Given the description of an element on the screen output the (x, y) to click on. 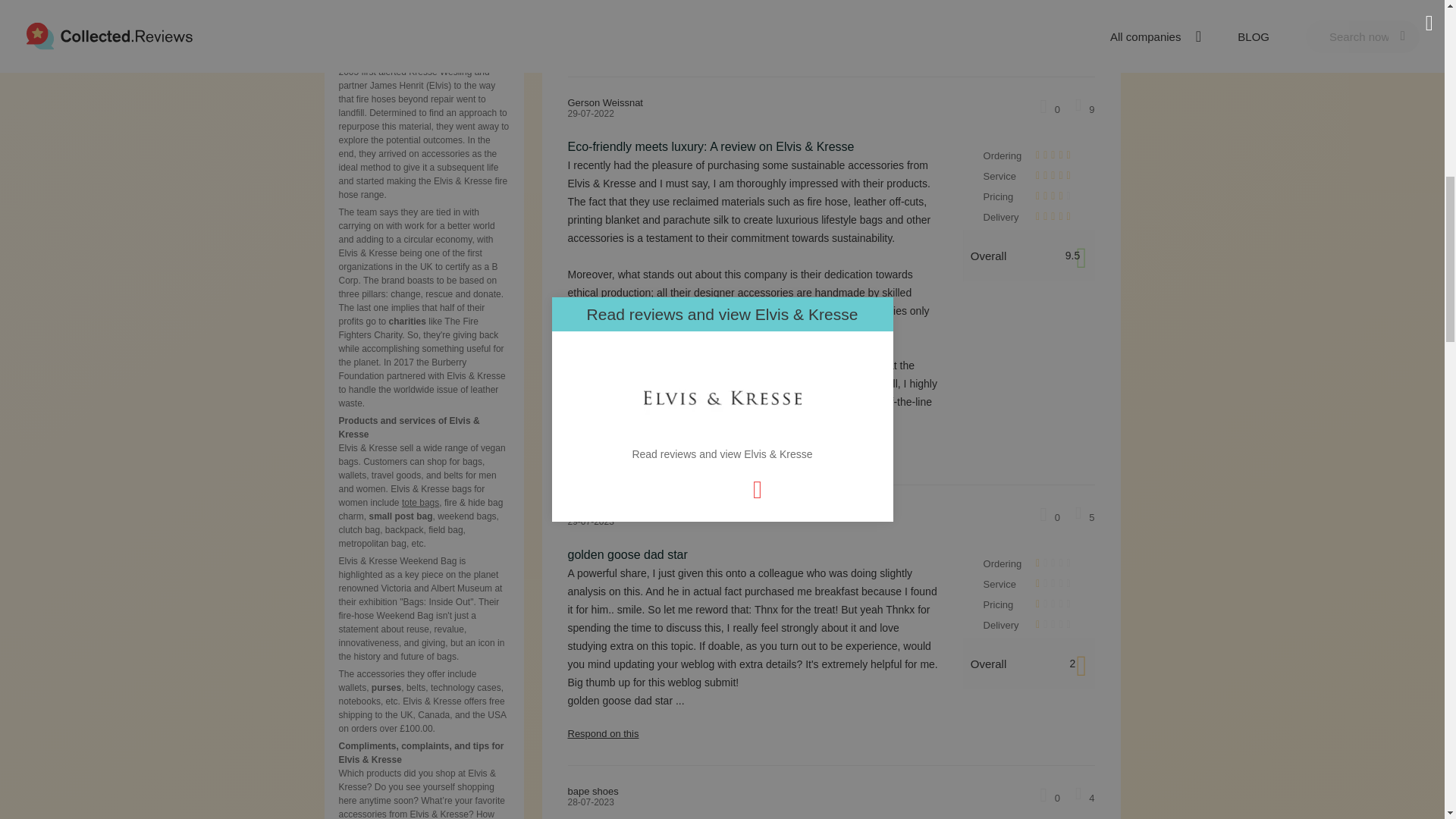
tote bags (420, 502)
Respond on this (830, 733)
Respond on this (830, 452)
Write your own review (1034, 49)
9 (1084, 108)
4 (1084, 797)
5 (1084, 516)
